Given the description of an element on the screen output the (x, y) to click on. 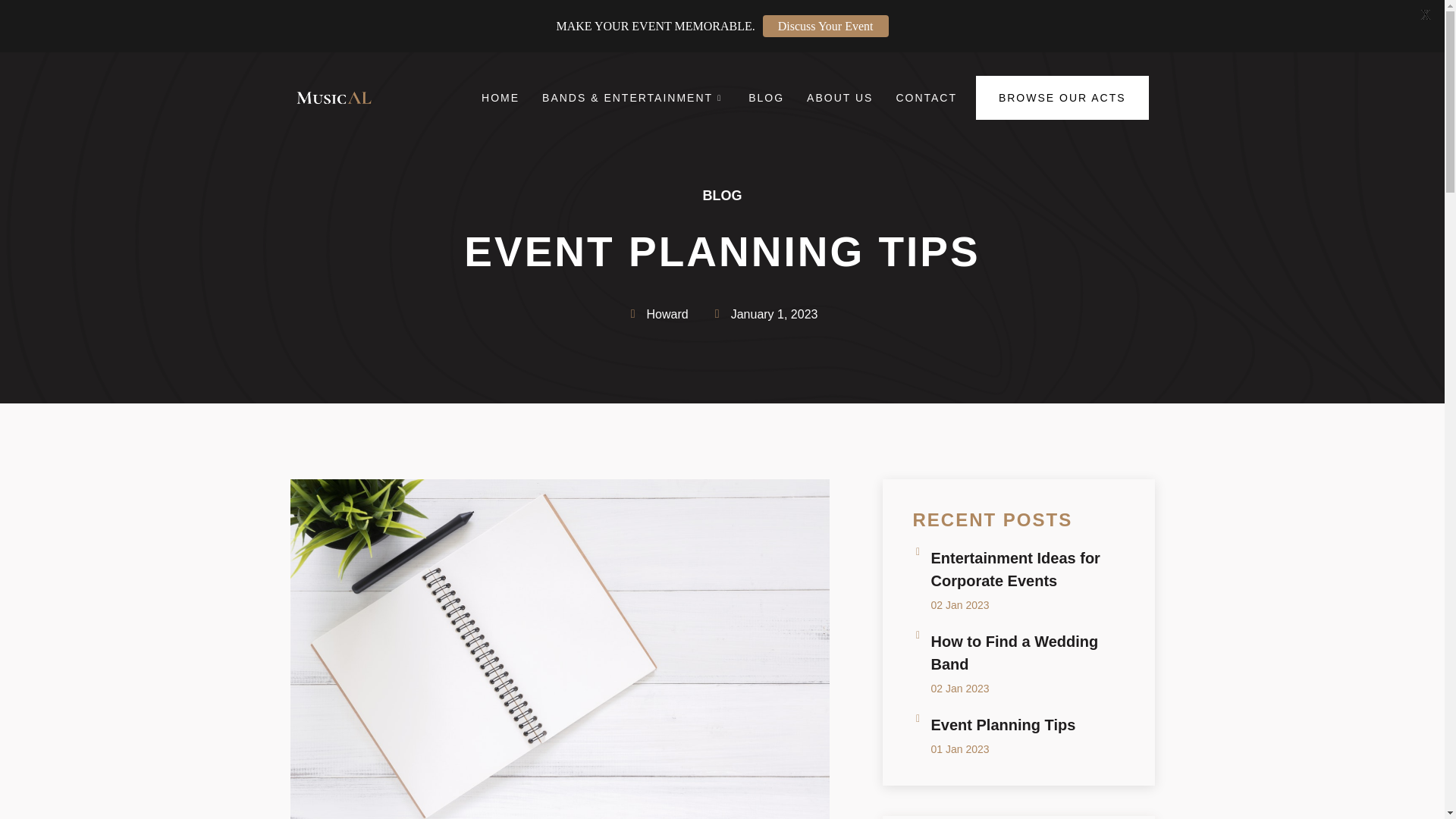
CONTACT (925, 97)
BLOG (765, 97)
Discuss Your Event (825, 25)
HOME (1018, 661)
BROWSE OUR ACTS (500, 97)
ABOUT US (1018, 578)
